Given the description of an element on the screen output the (x, y) to click on. 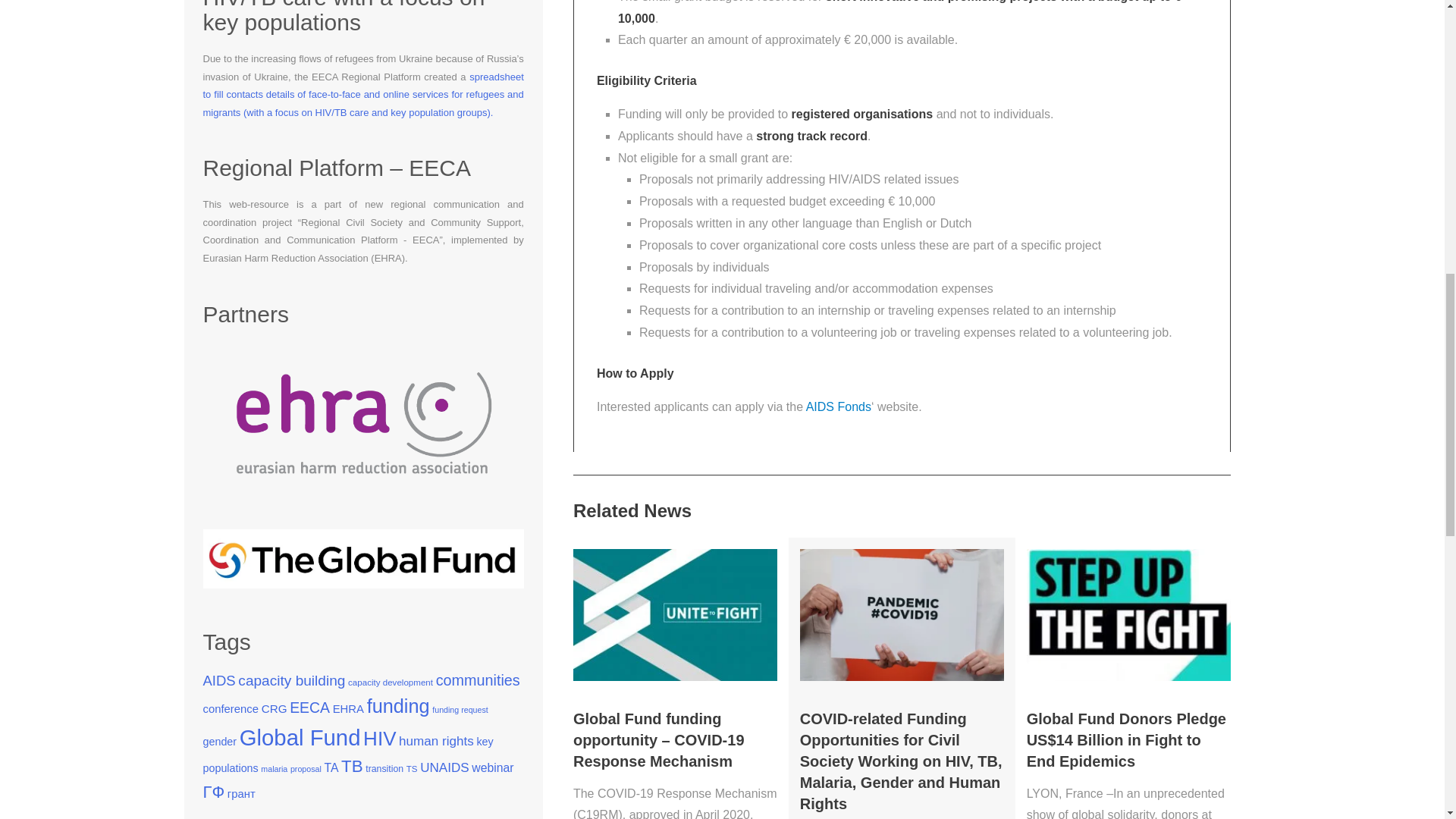
AIDS Fonds (838, 406)
Partners (370, 417)
